Given the description of an element on the screen output the (x, y) to click on. 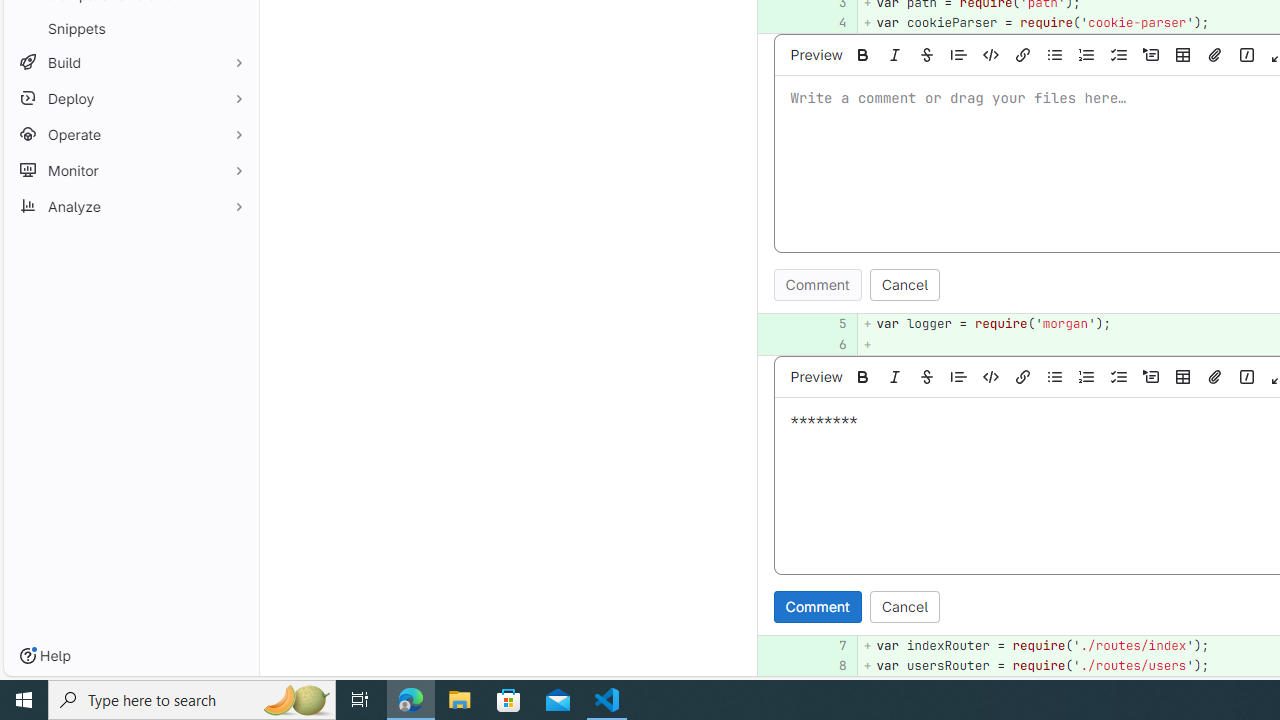
5 (829, 323)
Attach a file or image (1215, 376)
4 (831, 22)
Deploy (130, 98)
Snippets (130, 28)
Add a quick action (1247, 376)
Add a link (Ctrl+K) (1023, 376)
Build (130, 62)
Add a checklist (1119, 376)
Add a bullet list (1055, 376)
Add bold text (Ctrl+B) (863, 376)
Cancel (904, 605)
Add italic text (Ctrl+I) (895, 376)
Deploy (130, 98)
